Given the description of an element on the screen output the (x, y) to click on. 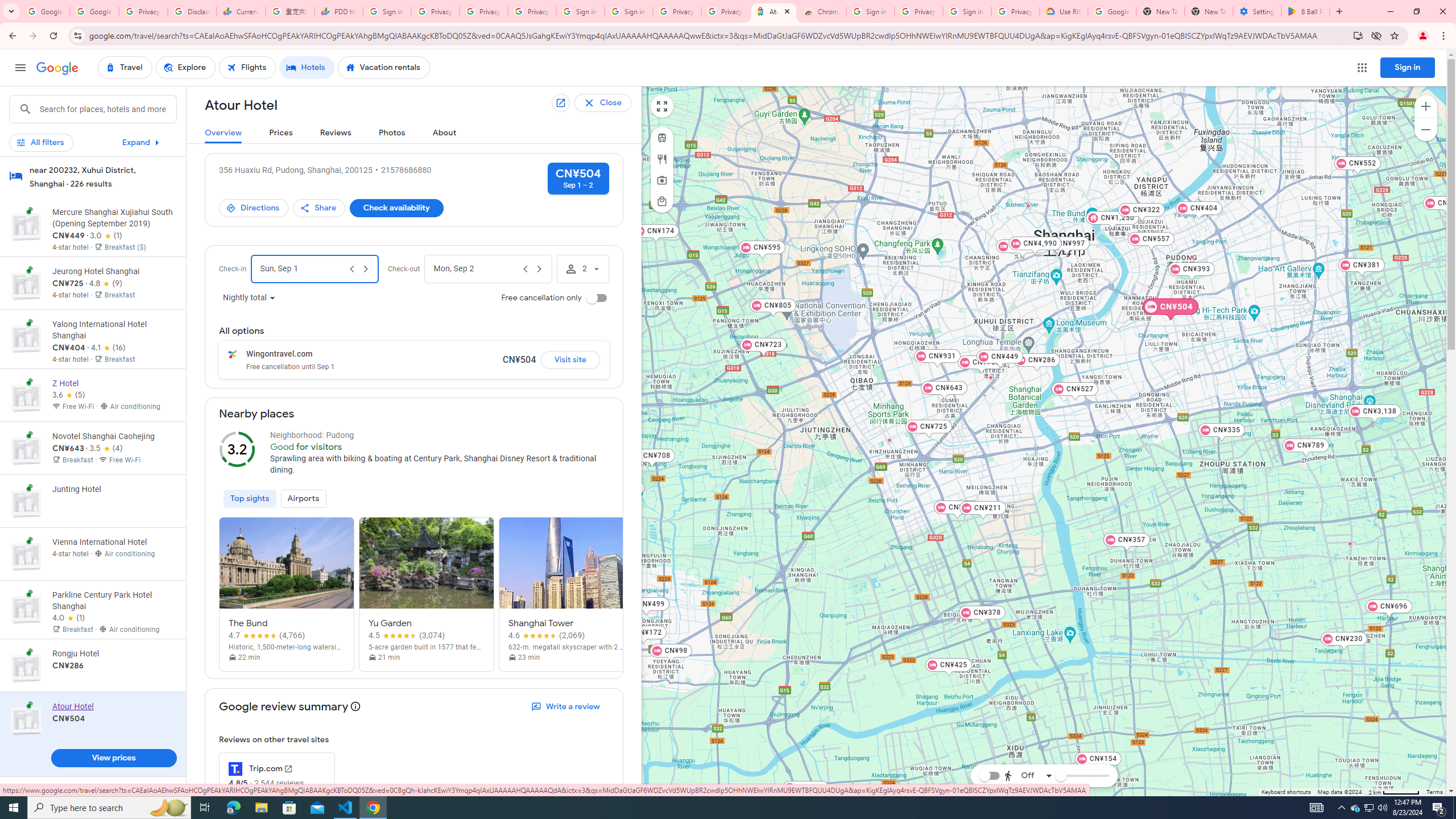
Flights (247, 67)
Share (319, 208)
Atour Hotel - Google hotels (773, 11)
Venus International Hotel Shanghai South Shenjiang Road (1349, 543)
Map Scale: 2 km per 61 pixels (1393, 791)
New Tab (1208, 11)
3 out of 5 stars from 1 reviews (106, 235)
3.2 out of 5 (237, 448)
